Given the description of an element on the screen output the (x, y) to click on. 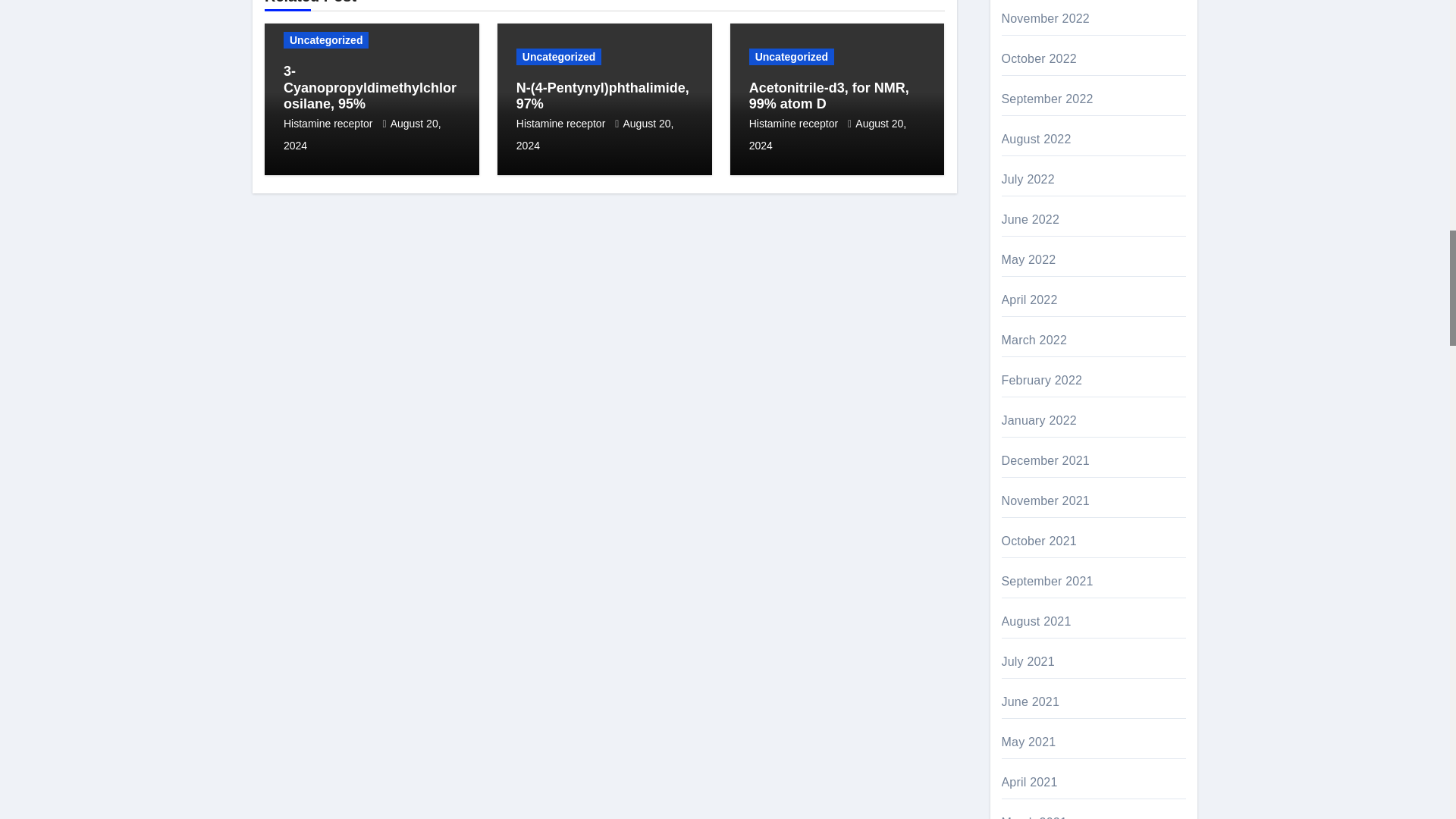
Uncategorized (325, 39)
August 20, 2024 (362, 133)
Histamine receptor (329, 123)
